Given the description of an element on the screen output the (x, y) to click on. 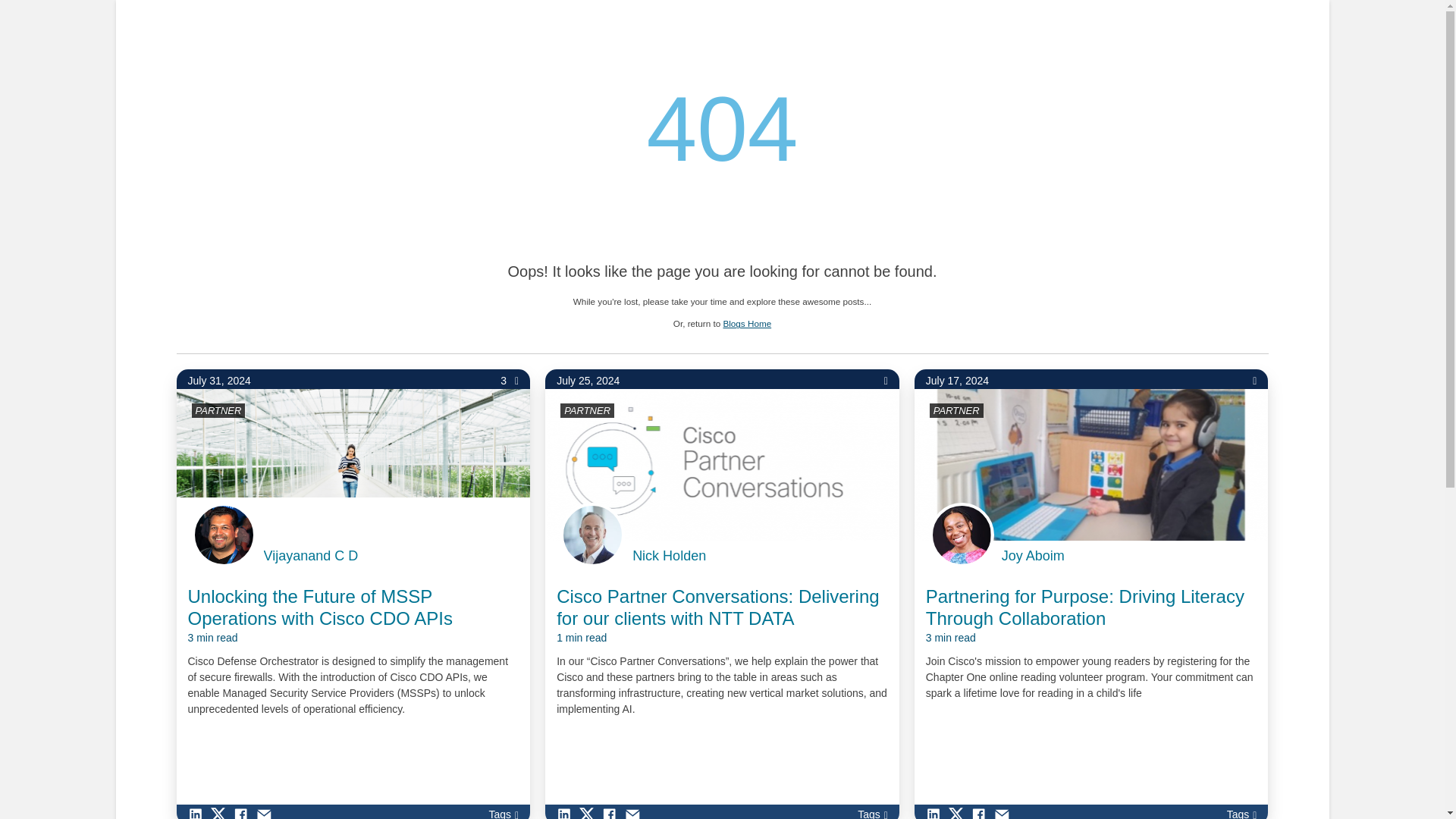
Posts by Nick Holden (668, 555)
Posts by Vijayanand C D (310, 555)
Blogs Home (746, 323)
Nick Holden (668, 555)
Posts by Joy Aboim (1032, 555)
PARTNER (956, 410)
Vijayanand C D (310, 555)
PARTNER (587, 410)
Joy Aboim (1032, 555)
3 (509, 381)
PARTNER (218, 410)
Unlocking the Future of MSSP Operations with Cisco CDO APIs (353, 615)
